Given the description of an element on the screen output the (x, y) to click on. 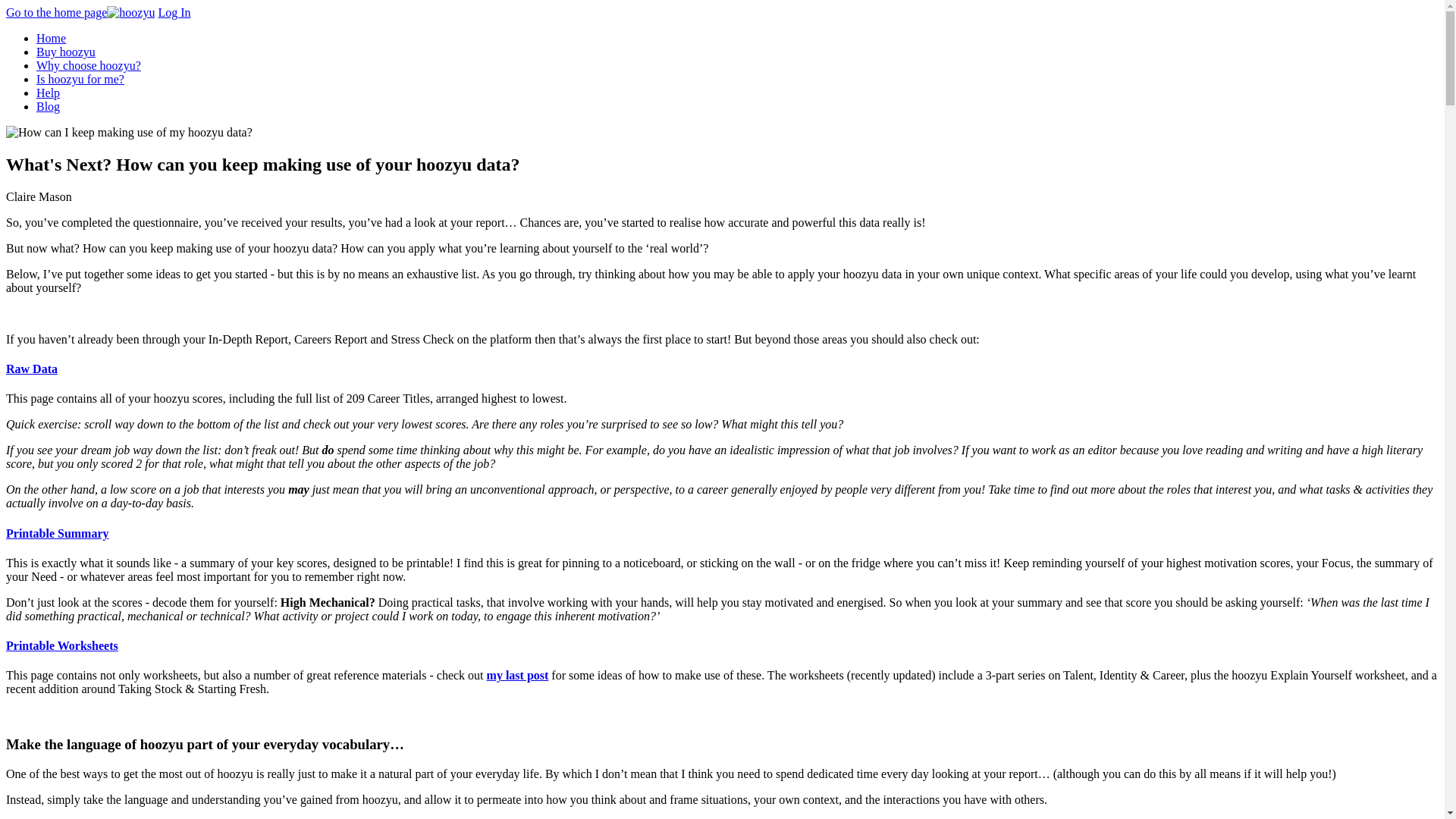
my last post (517, 675)
Why choose hoozyu? (88, 65)
Is hoozyu for me? (79, 78)
Buy hoozyu (66, 51)
Blog (47, 106)
Home (50, 38)
Log In (173, 11)
Go to the home page (79, 11)
Help (47, 92)
Printable Worksheets (61, 645)
Raw Data (31, 368)
Printable Summary (57, 533)
